Given the description of an element on the screen output the (x, y) to click on. 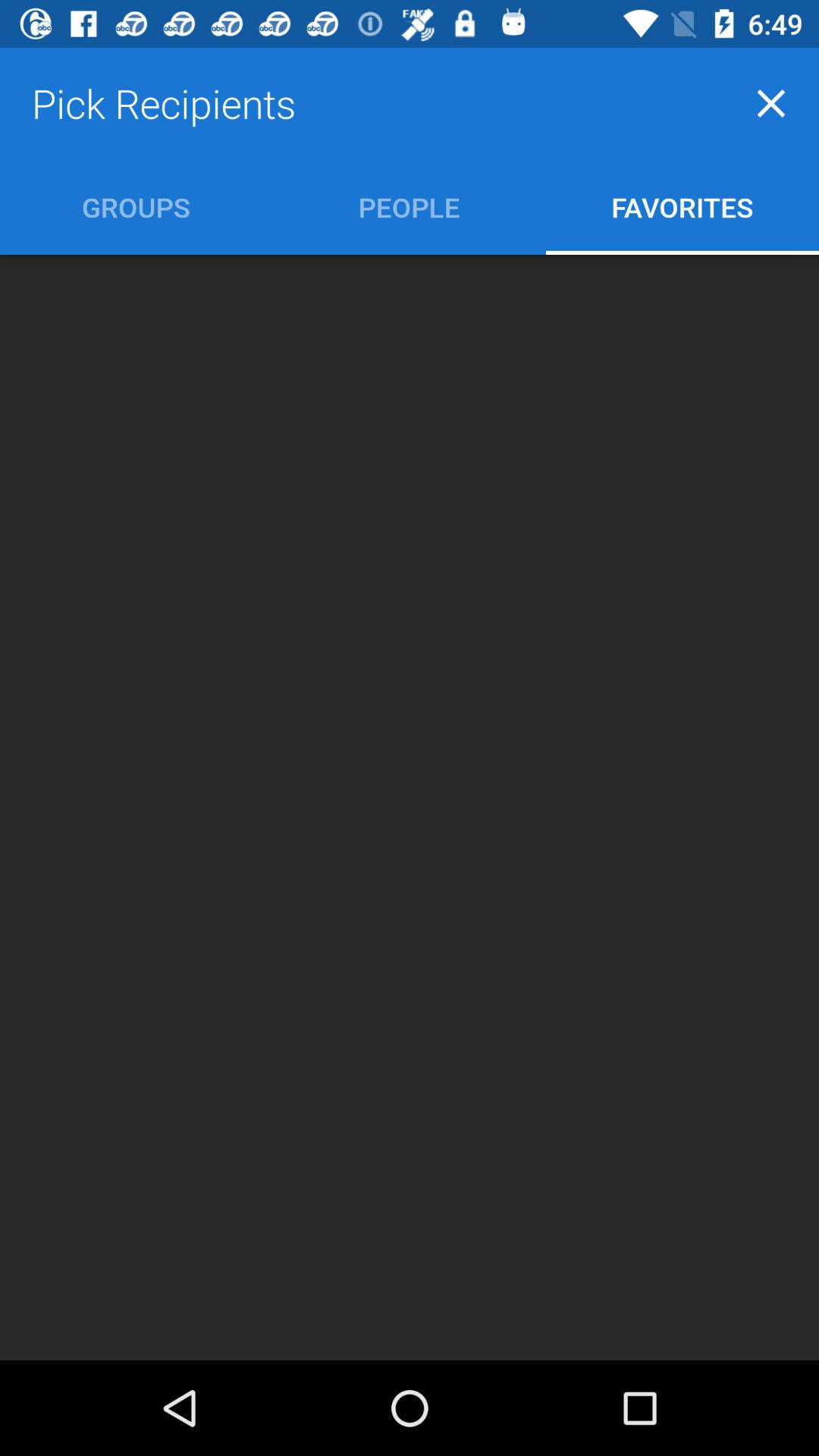
select icon next to groups icon (409, 206)
